Given the description of an element on the screen output the (x, y) to click on. 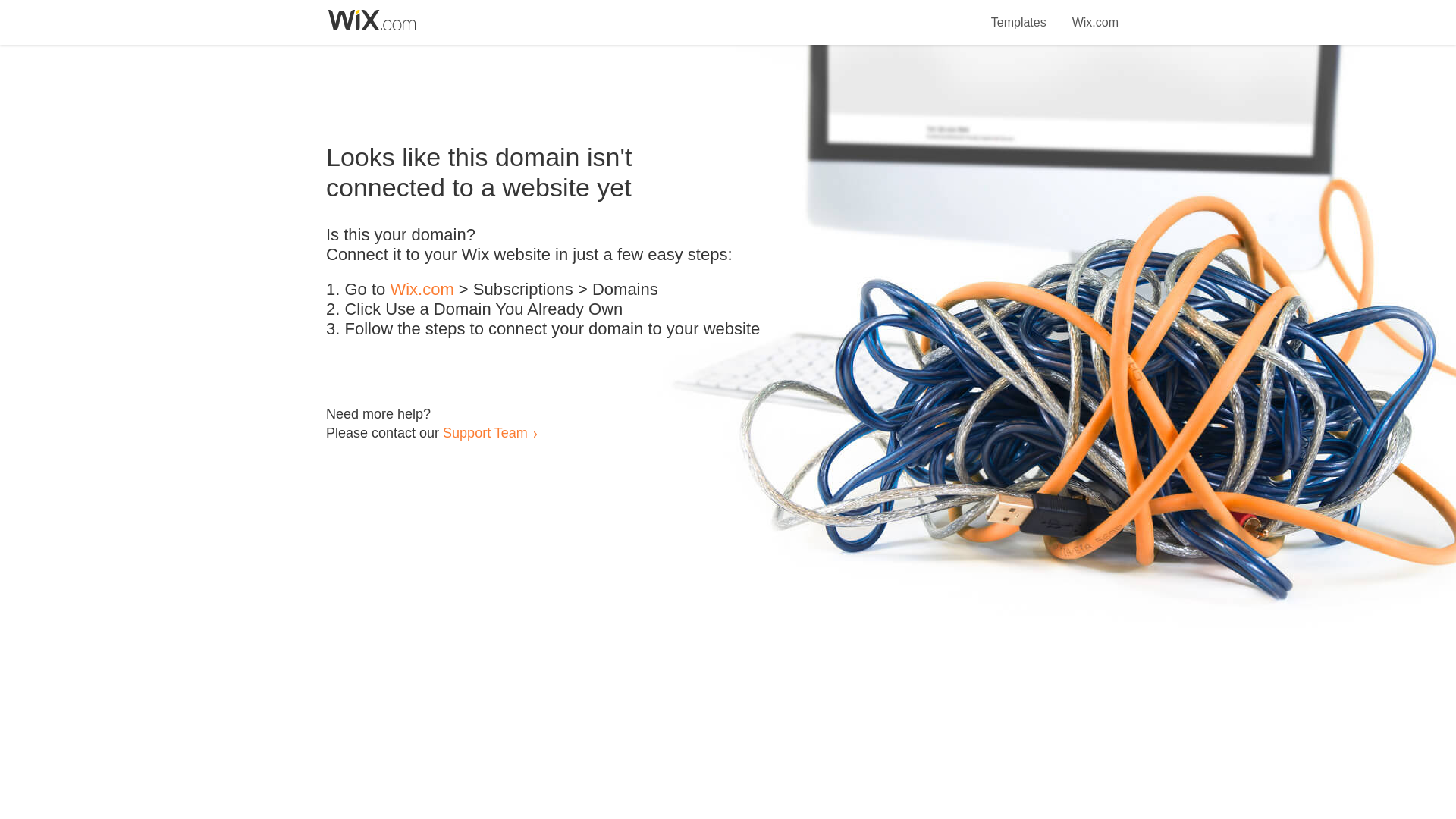
Wix.com (1095, 14)
Support Team (484, 432)
Templates (1018, 14)
Wix.com (421, 289)
